Given the description of an element on the screen output the (x, y) to click on. 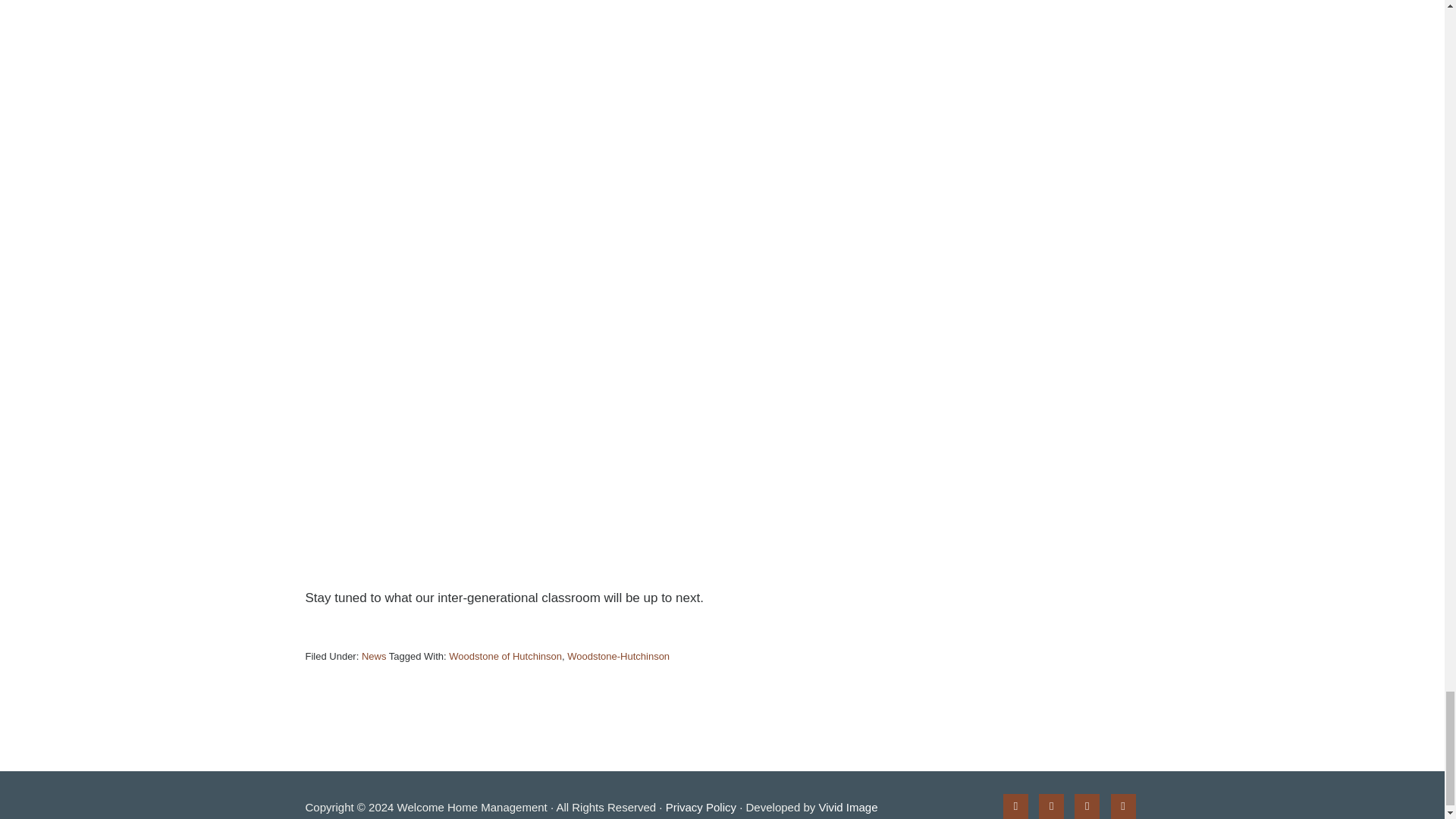
News (374, 655)
Vivid Image (847, 807)
Privacy Policy (700, 807)
Woodstone-Hutchinson (618, 655)
Woodstone of Hutchinson (505, 655)
